Given the description of an element on the screen output the (x, y) to click on. 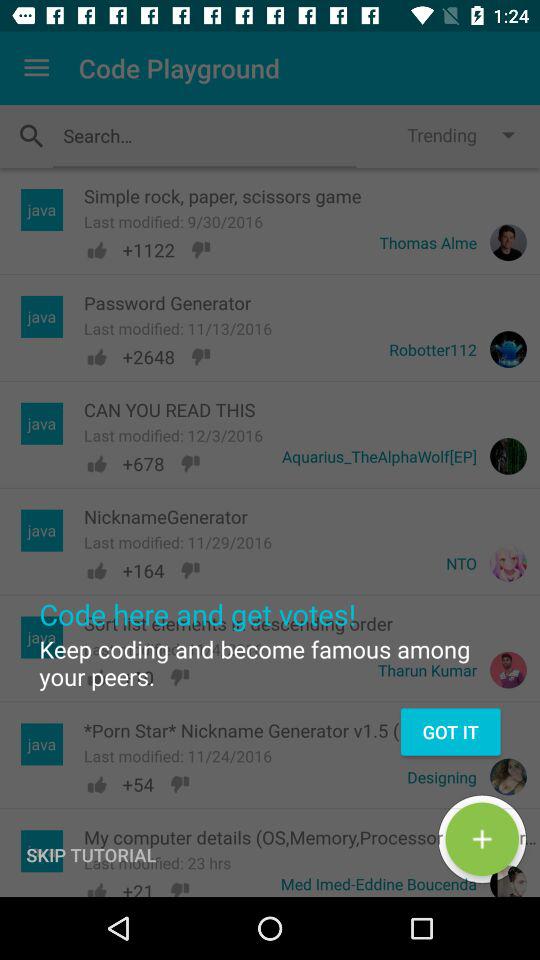
click on  button under got it (482, 839)
click on the icon skip tutorial (91, 855)
